Given the description of an element on the screen output the (x, y) to click on. 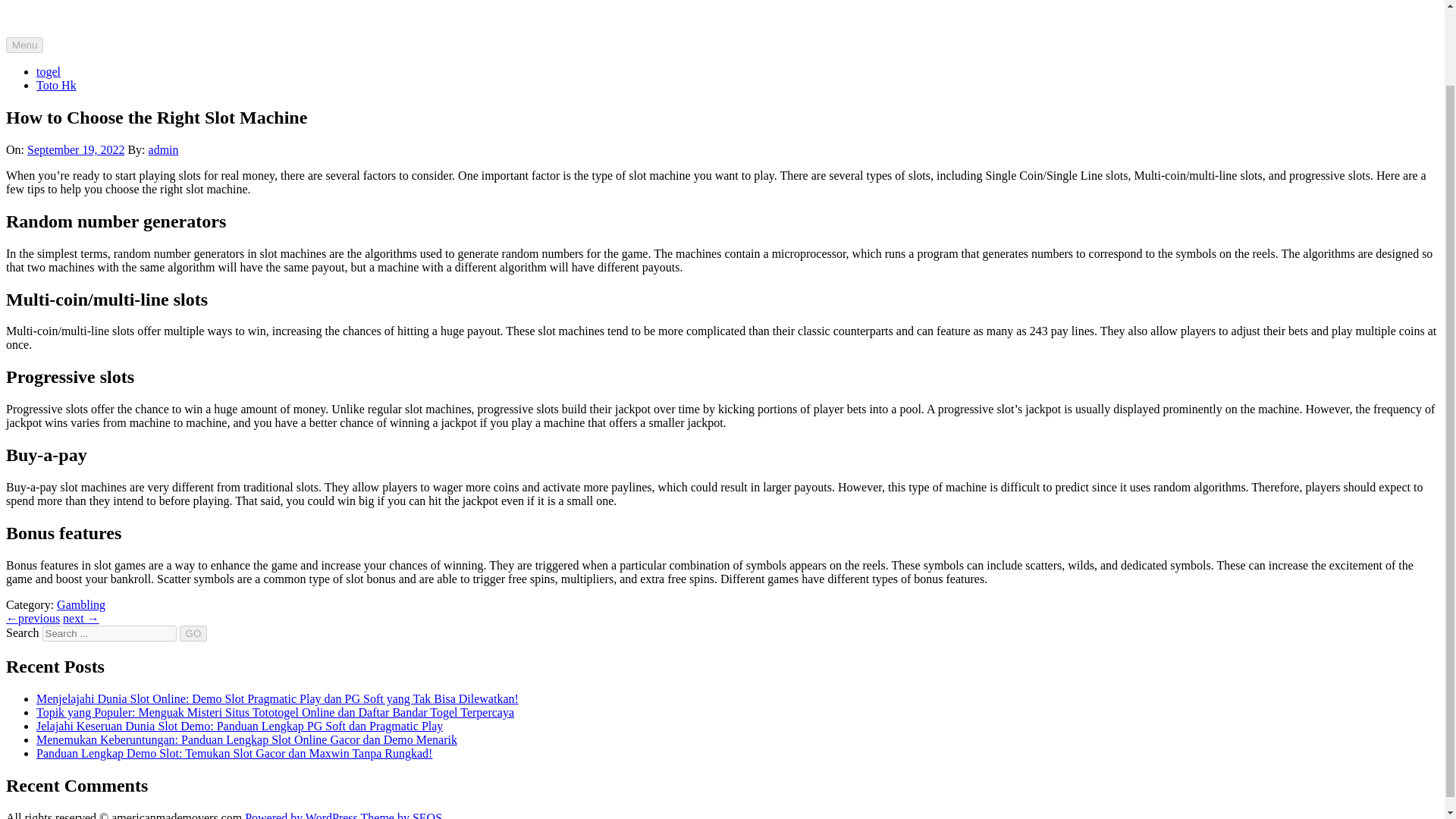
Gambling (80, 604)
Menu (24, 44)
GO (193, 633)
togel (48, 71)
GO (193, 633)
admin (163, 149)
